Given the description of an element on the screen output the (x, y) to click on. 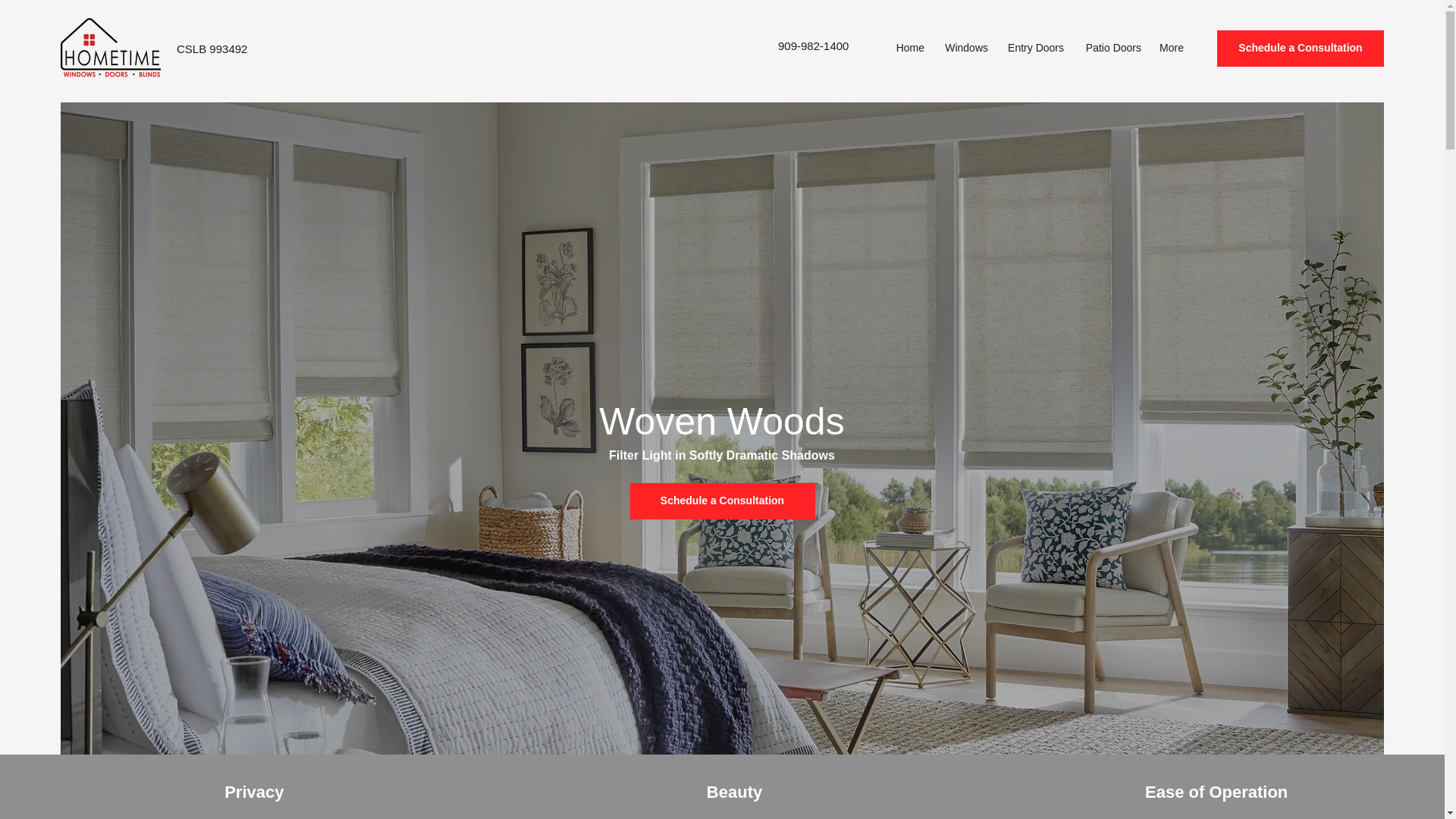
Patio Doors (1109, 47)
Windows (963, 47)
Entry Doors (1033, 47)
Schedule a Consultation (720, 501)
909-982-1400 (812, 45)
Schedule a Consultation (1300, 48)
Home (907, 47)
